Given the description of an element on the screen output the (x, y) to click on. 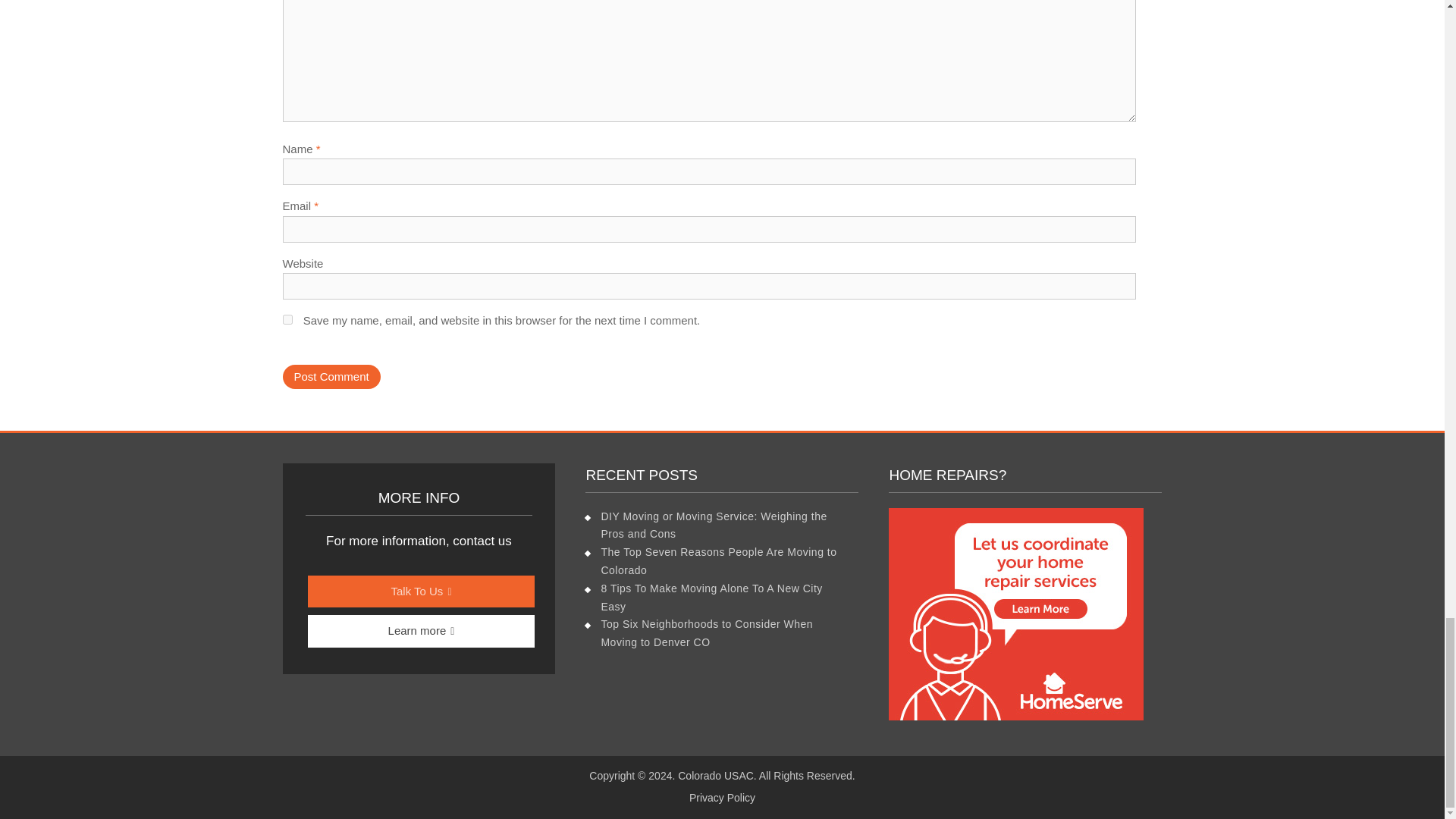
Top Six Neighborhoods to Consider When Moving to Denver CO (705, 633)
Post Comment (331, 376)
Colorado USAC (716, 775)
DIY Moving or Moving Service: Weighing the Pros and Cons (713, 525)
8 Tips To Make Moving Alone To A New City Easy (710, 597)
Post Comment (331, 376)
The Top Seven Reasons People Are Moving to Colorado (717, 561)
Talk To Us (421, 591)
yes (287, 319)
Learn more (421, 631)
